Given the description of an element on the screen output the (x, y) to click on. 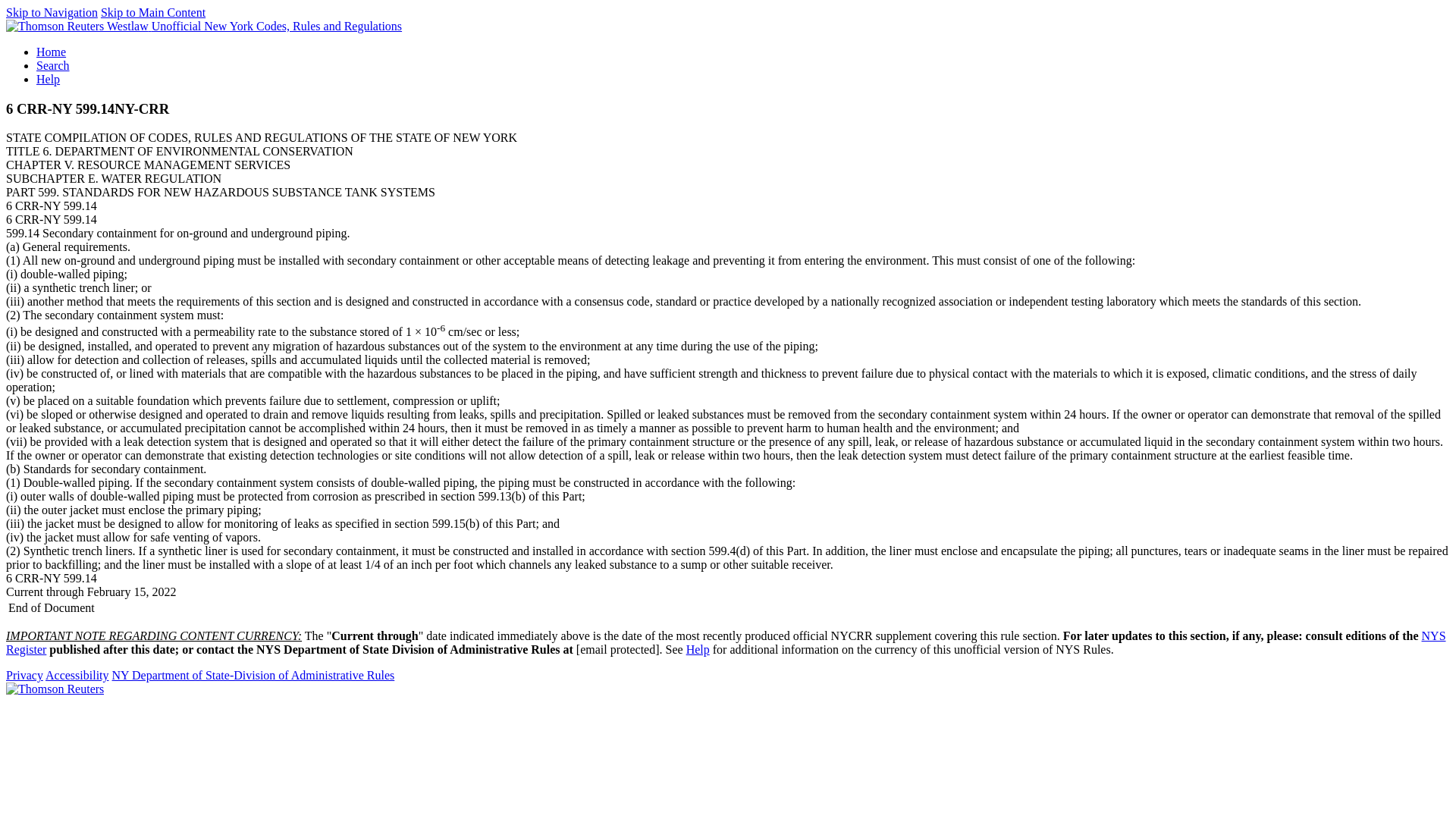
NY Department of State-Division of Administrative Rules (253, 675)
Help (47, 78)
Thomson Reuters Westlaw (78, 25)
Unofficial New York Codes, Rules and Regulations (276, 25)
Search (52, 65)
Accessibility (77, 675)
Privacy (24, 675)
Skip to Main Content (152, 11)
Help (697, 649)
Home (50, 51)
Skip to Navigation (51, 11)
